Given the description of an element on the screen output the (x, y) to click on. 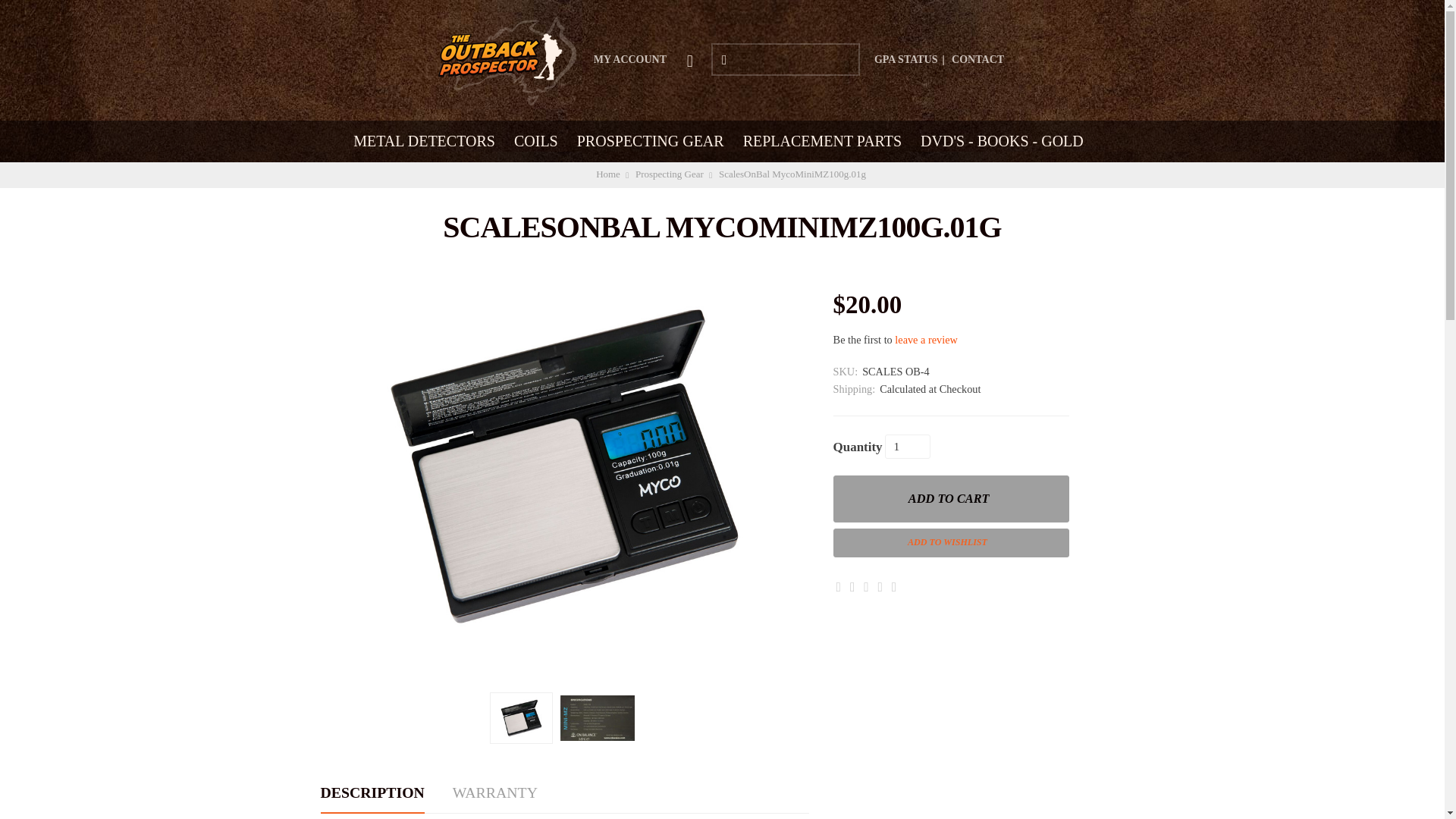
METAL DETECTORS (424, 141)
1 (907, 446)
GPA STATUS (905, 59)
CONTACT (978, 59)
COILS (536, 141)
DVD'S - BOOKS - GOLD (1002, 141)
REPLACEMENT PARTS (822, 141)
View cart (691, 59)
Home (607, 173)
MY ACCOUNT (630, 59)
